Given the description of an element on the screen output the (x, y) to click on. 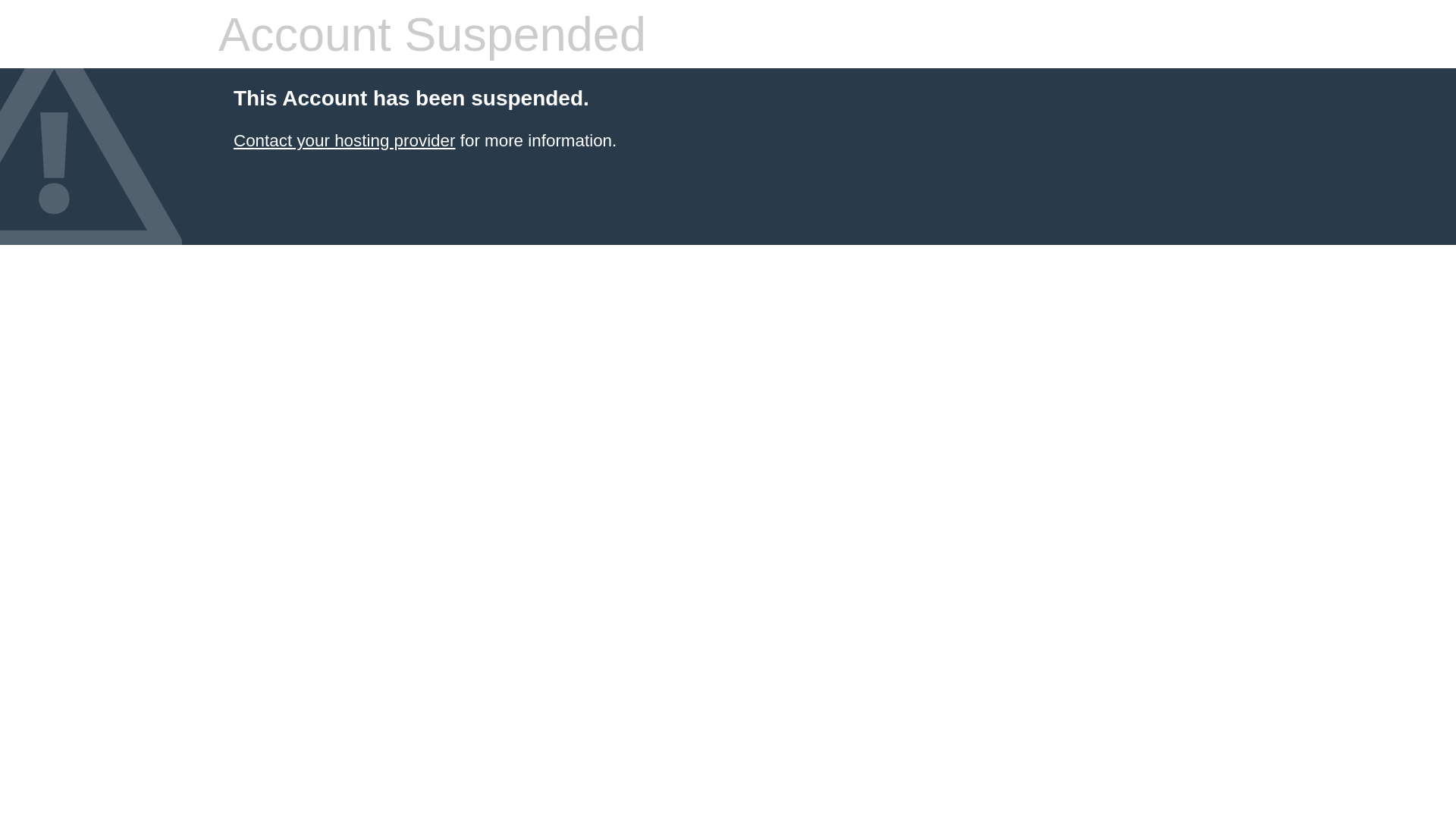
Contact your hosting provider Element type: text (344, 140)
